Given the description of an element on the screen output the (x, y) to click on. 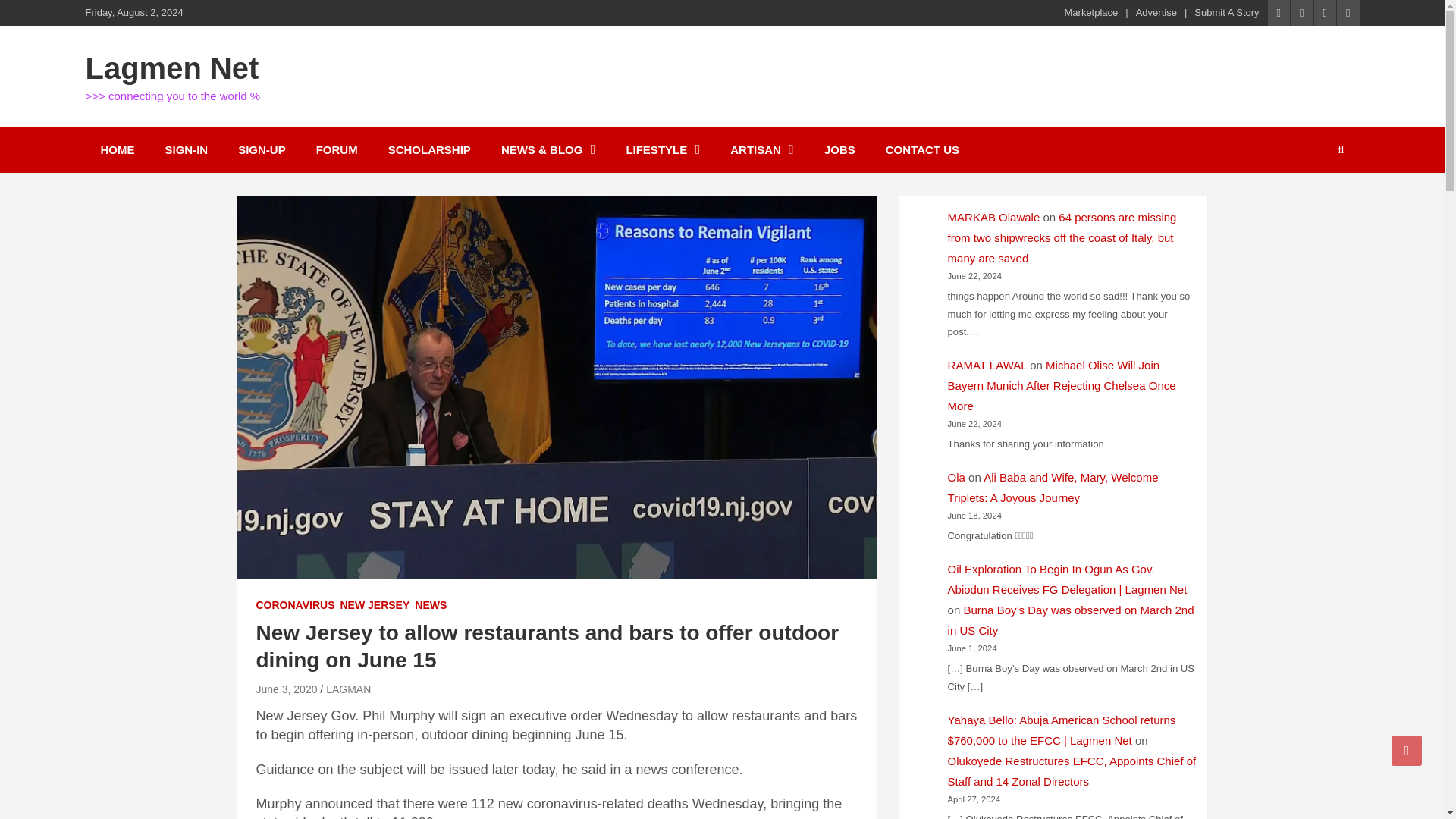
CONTACT US (922, 149)
SCHOLARSHIP (429, 149)
Submit A Story (1226, 12)
Lagmen Net (171, 68)
ARTISAN (761, 149)
LAGMAN (348, 689)
SIGN-IN (186, 149)
Advertise (1155, 12)
Marketplace (1091, 12)
NEW JERSEY (374, 605)
LIFESTYLE (662, 149)
CORONAVIRUS (295, 605)
SIGN-UP (261, 149)
NEWS (430, 605)
